Given the description of an element on the screen output the (x, y) to click on. 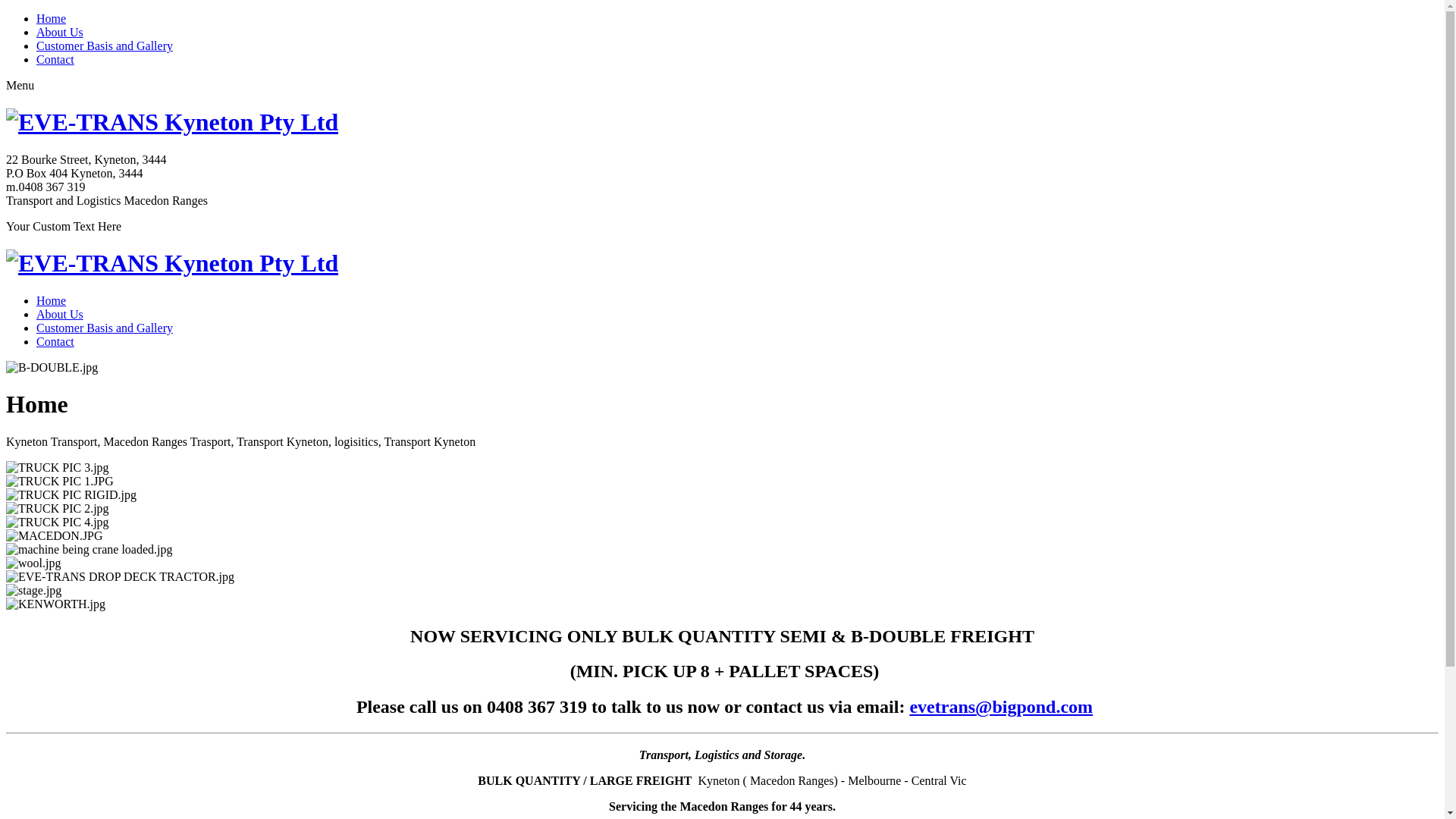
Home Element type: text (50, 18)
Customer Basis and Gallery Element type: text (104, 45)
About Us Element type: text (59, 31)
Customer Basis and Gallery Element type: text (104, 327)
About Us Element type: text (59, 313)
Contact Element type: text (55, 341)
Menu Element type: text (20, 84)
Contact Element type: text (55, 59)
Home Element type: text (50, 300)
evetrans@bigpond.com Element type: text (1000, 706)
